Given the description of an element on the screen output the (x, y) to click on. 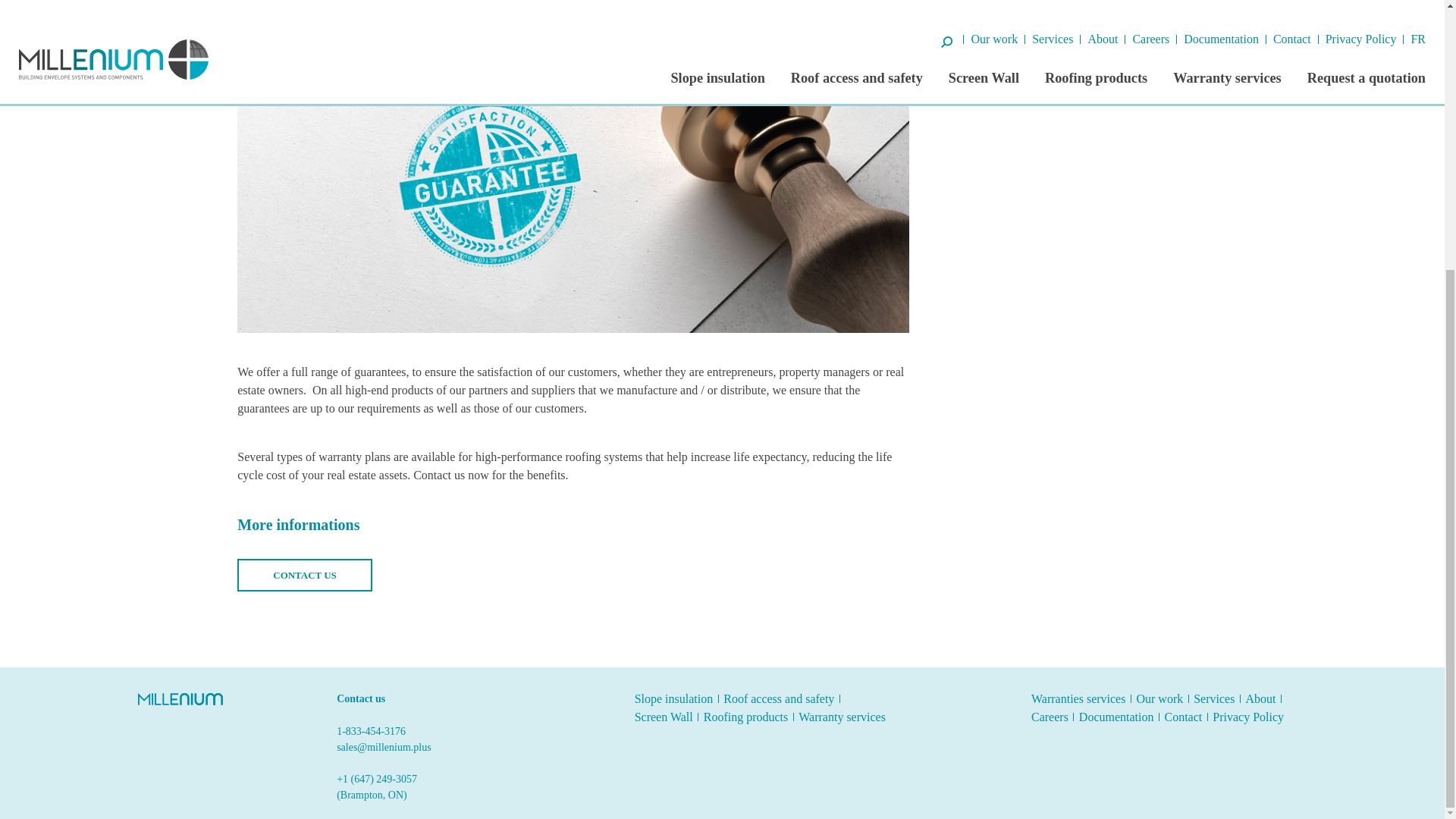
CONTACT US (304, 575)
Screen Wall (663, 716)
Warranty services (841, 716)
Roofing products (746, 716)
Slope insulation (673, 698)
Roof access and safety (778, 698)
1-833-454-3176 (424, 731)
